Given the description of an element on the screen output the (x, y) to click on. 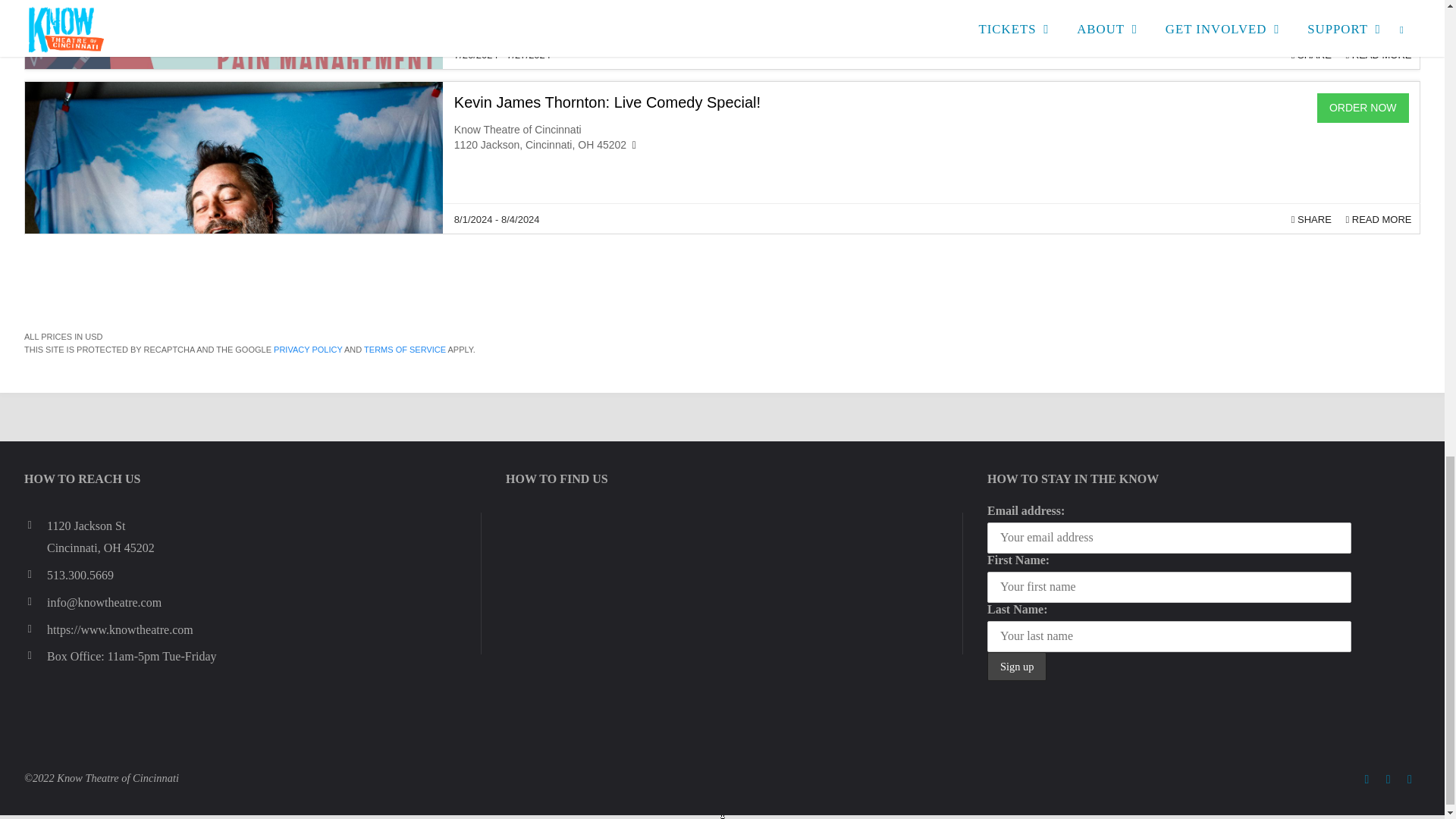
Sign up (1016, 666)
Opening Hours (35, 655)
Phone (35, 574)
E-mail (35, 601)
Web (35, 629)
Instagram (1410, 780)
Twitter (1388, 780)
Facebook (1366, 780)
Address (35, 525)
